Given the description of an element on the screen output the (x, y) to click on. 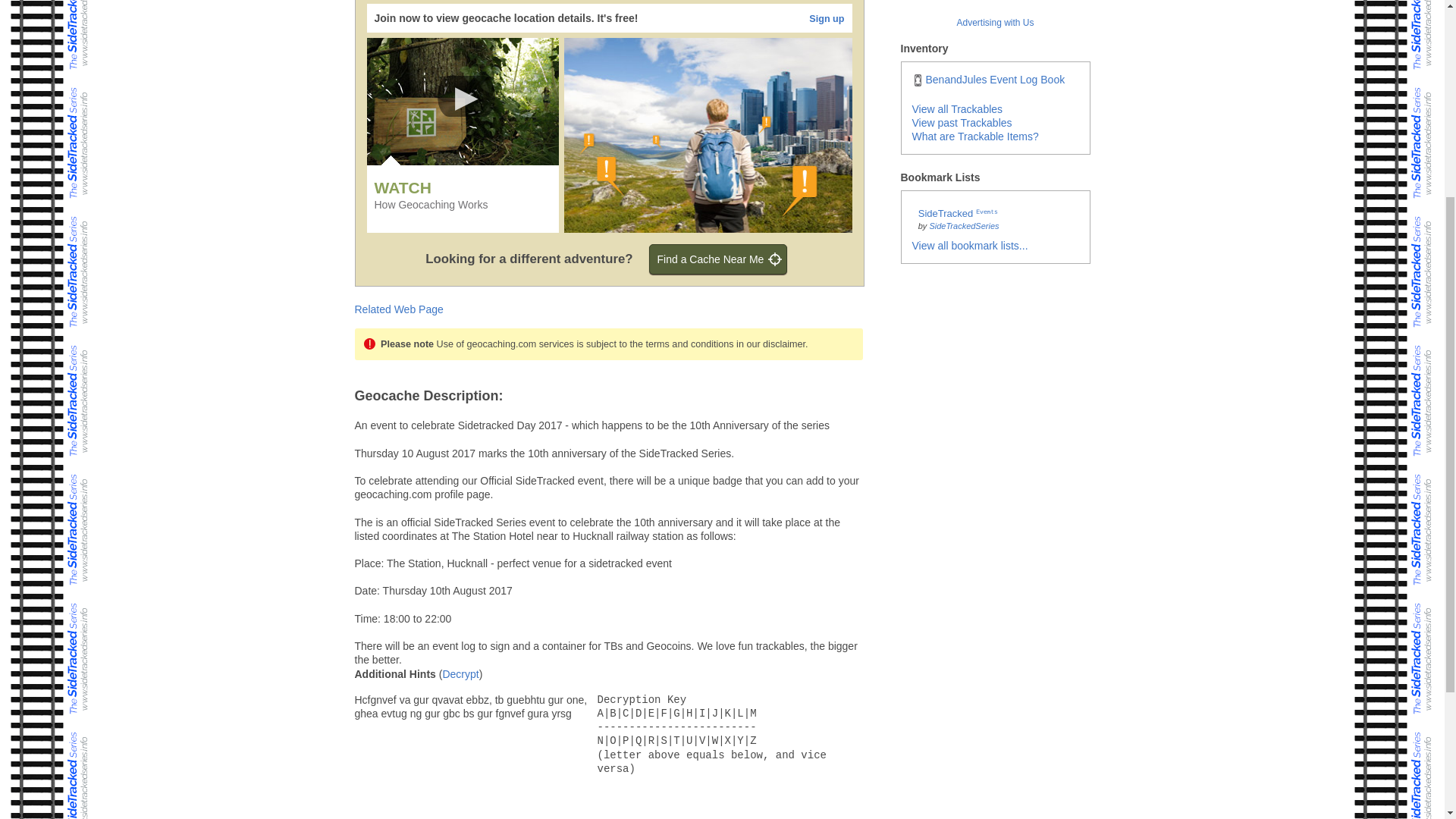
BenandJules Event Log Book (987, 79)
Related Web Page (399, 309)
View all bookmark lists... (969, 245)
Related Web Page (399, 309)
Sign up (826, 18)
Read our disclaimer (770, 344)
Sign up (826, 18)
View all bookmark lists... (969, 245)
What are Trackable Items? (974, 136)
Decrypt (460, 674)
Find a Cache Near Me (718, 259)
What are Trackable Items? (974, 136)
Find a Cache Near Me (718, 259)
View past Trackables (961, 122)
in our disclaimer (770, 344)
